Given the description of an element on the screen output the (x, y) to click on. 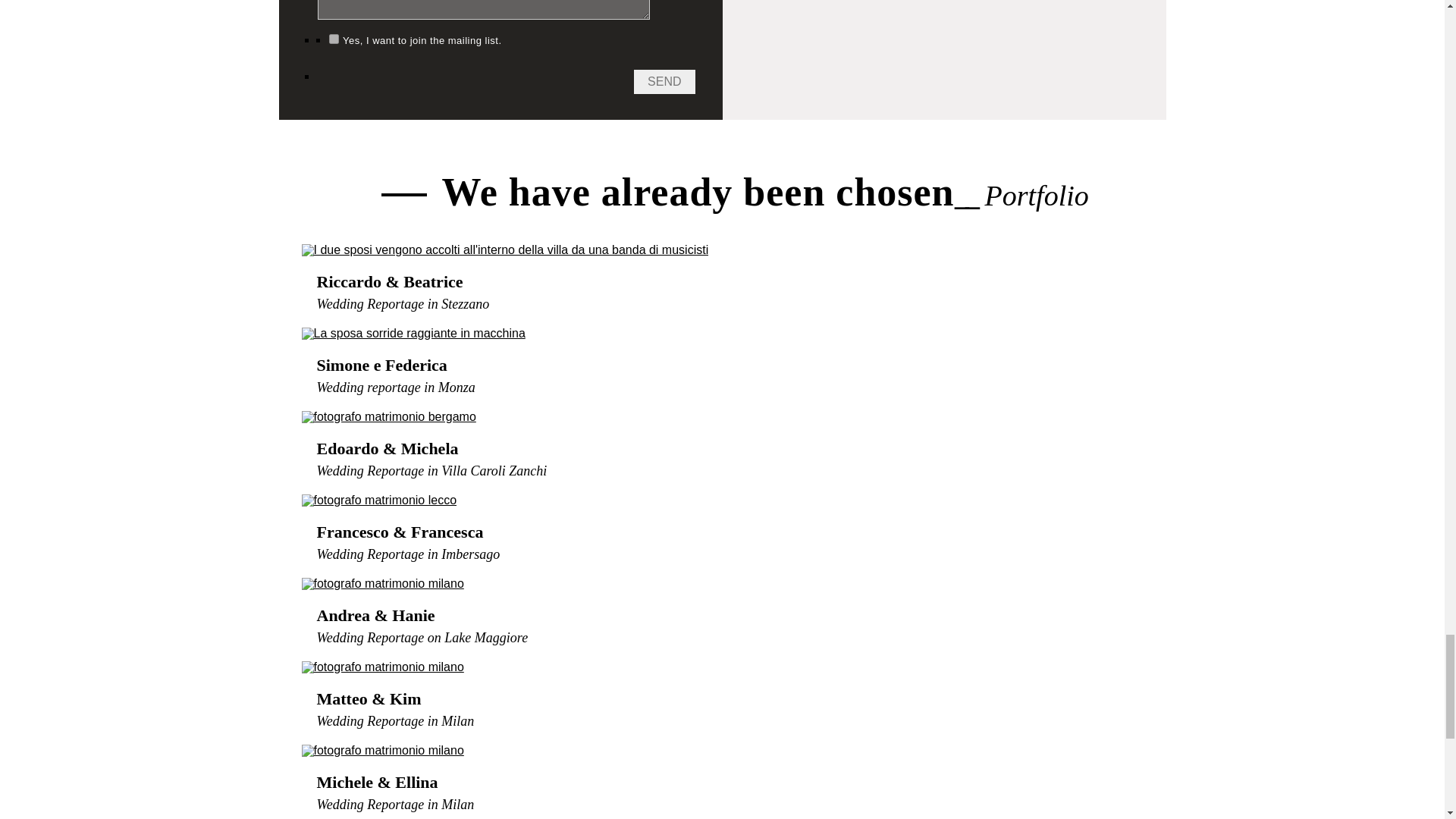
SEND (663, 81)
SEND (663, 81)
Yes, I want to join the mailing list. (334, 39)
